Given the description of an element on the screen output the (x, y) to click on. 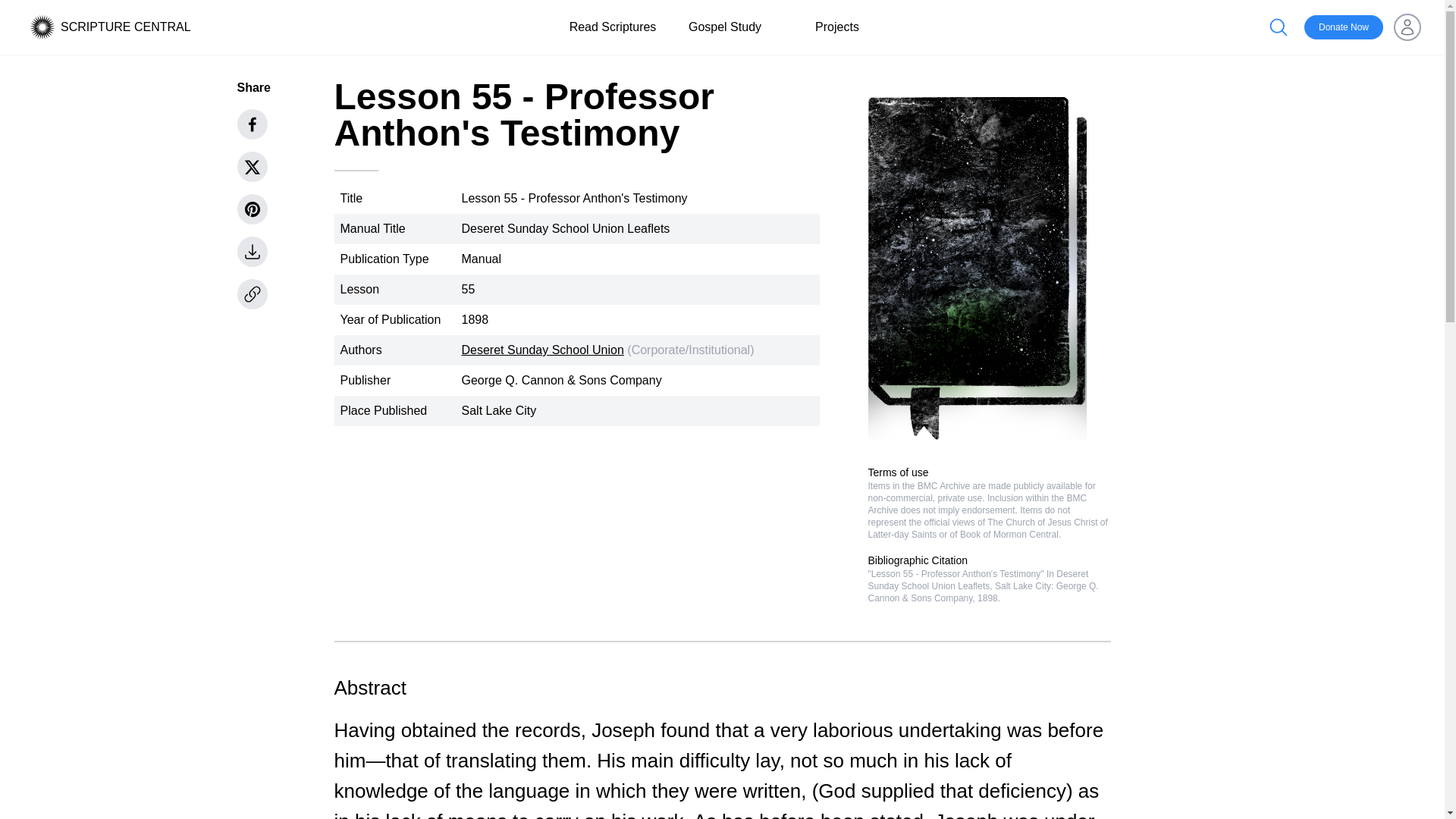
Gospel Study (724, 26)
Read Scriptures (612, 27)
Projects (837, 26)
SCRIPTURE CENTRAL (125, 27)
Deseret Sunday School Union (542, 349)
Open user menu (1406, 27)
Gospel Study (724, 27)
Read Scriptures (612, 26)
Donate Now (1343, 27)
